Given the description of an element on the screen output the (x, y) to click on. 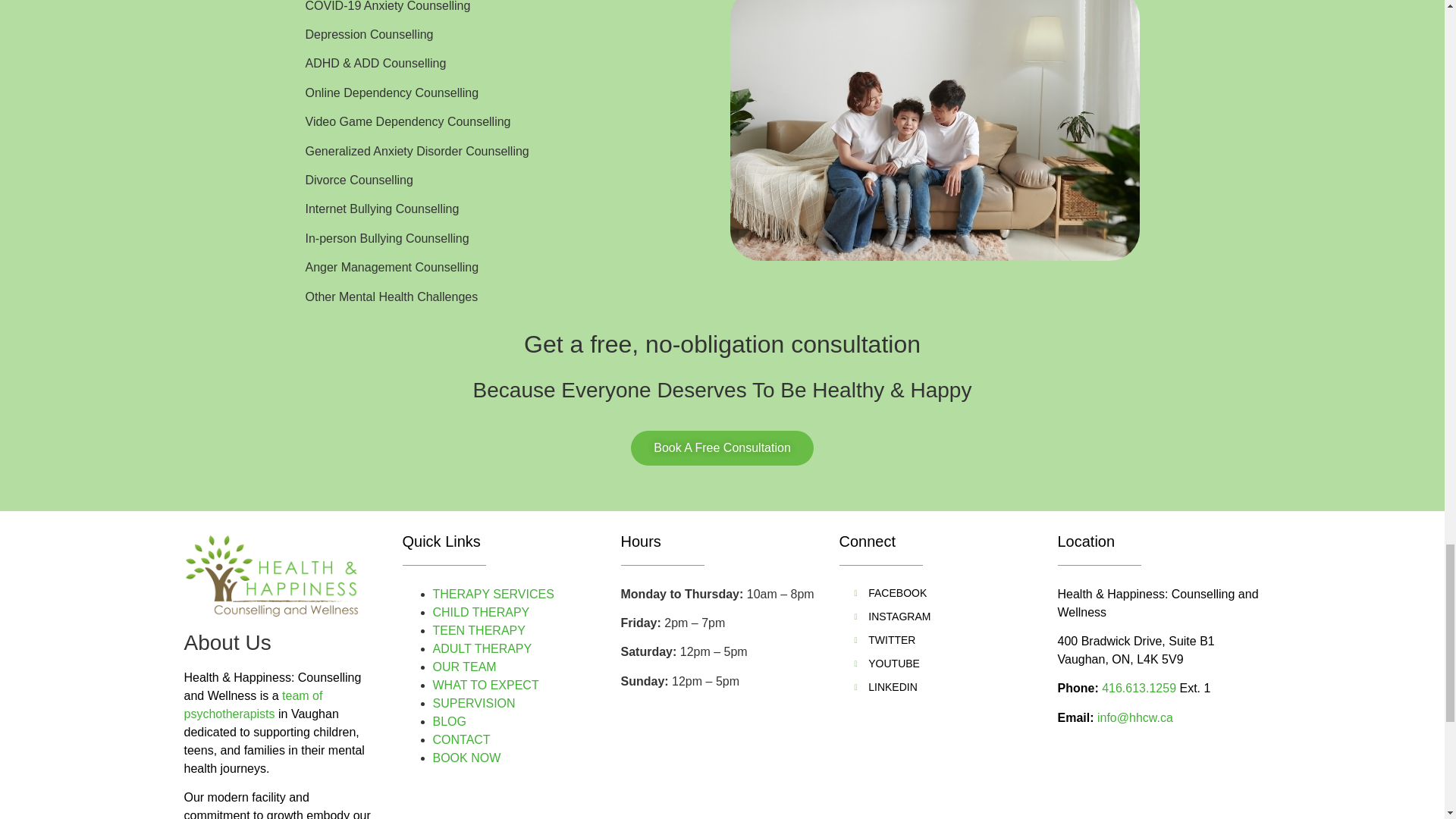
OUR TEAM (464, 666)
TEEN THERAPY (478, 630)
ADULT THERAPY (481, 648)
SUPERVISION (473, 703)
CHILD THERAPY (480, 612)
WHAT TO EXPECT (485, 684)
Book A Free Consultation (721, 448)
THERAPY SERVICES (492, 594)
team of psychotherapists (252, 704)
